Given the description of an element on the screen output the (x, y) to click on. 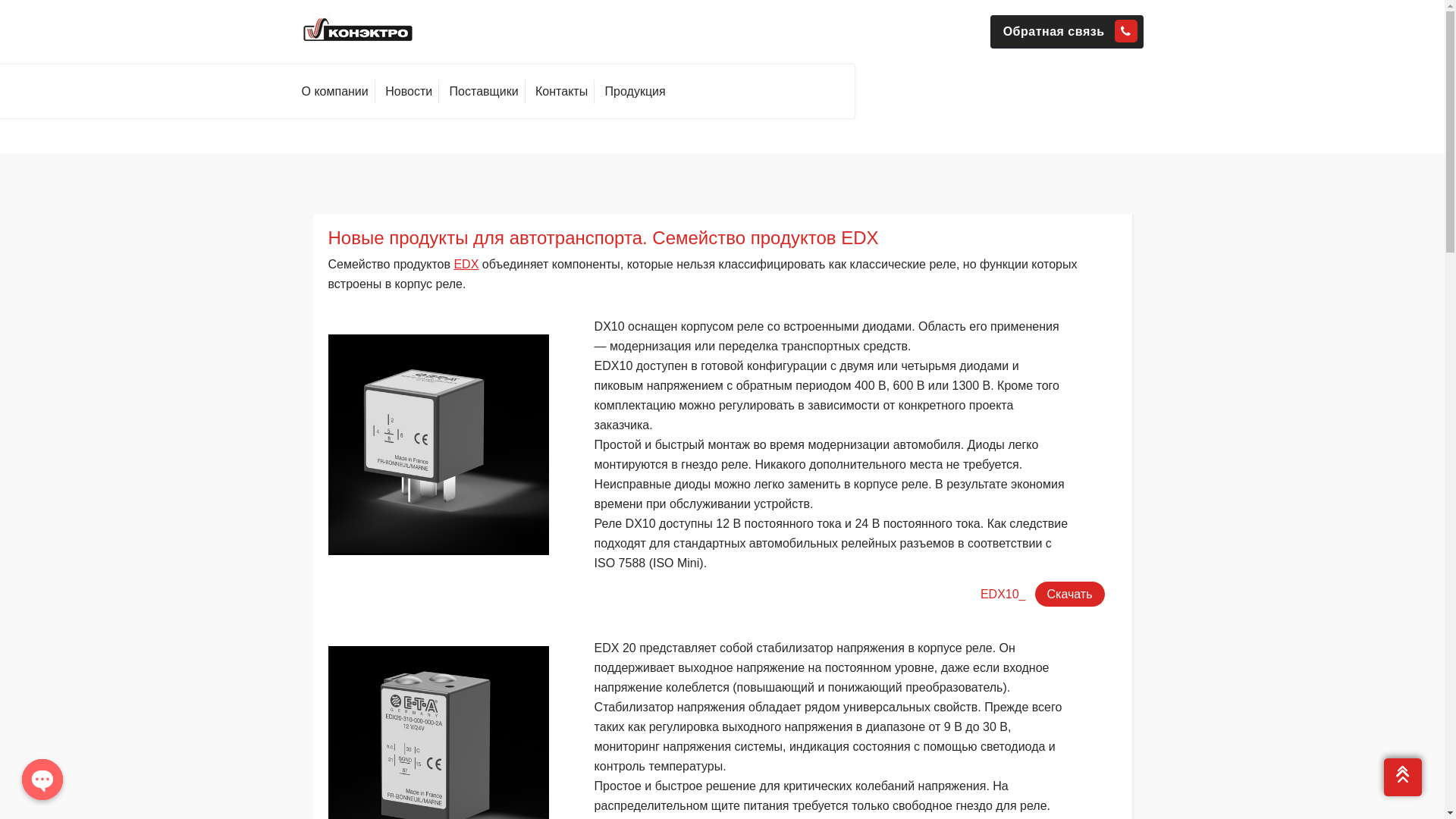
EDX Element type: text (465, 263)
EDX10_ Element type: text (1003, 593)
